Given the description of an element on the screen output the (x, y) to click on. 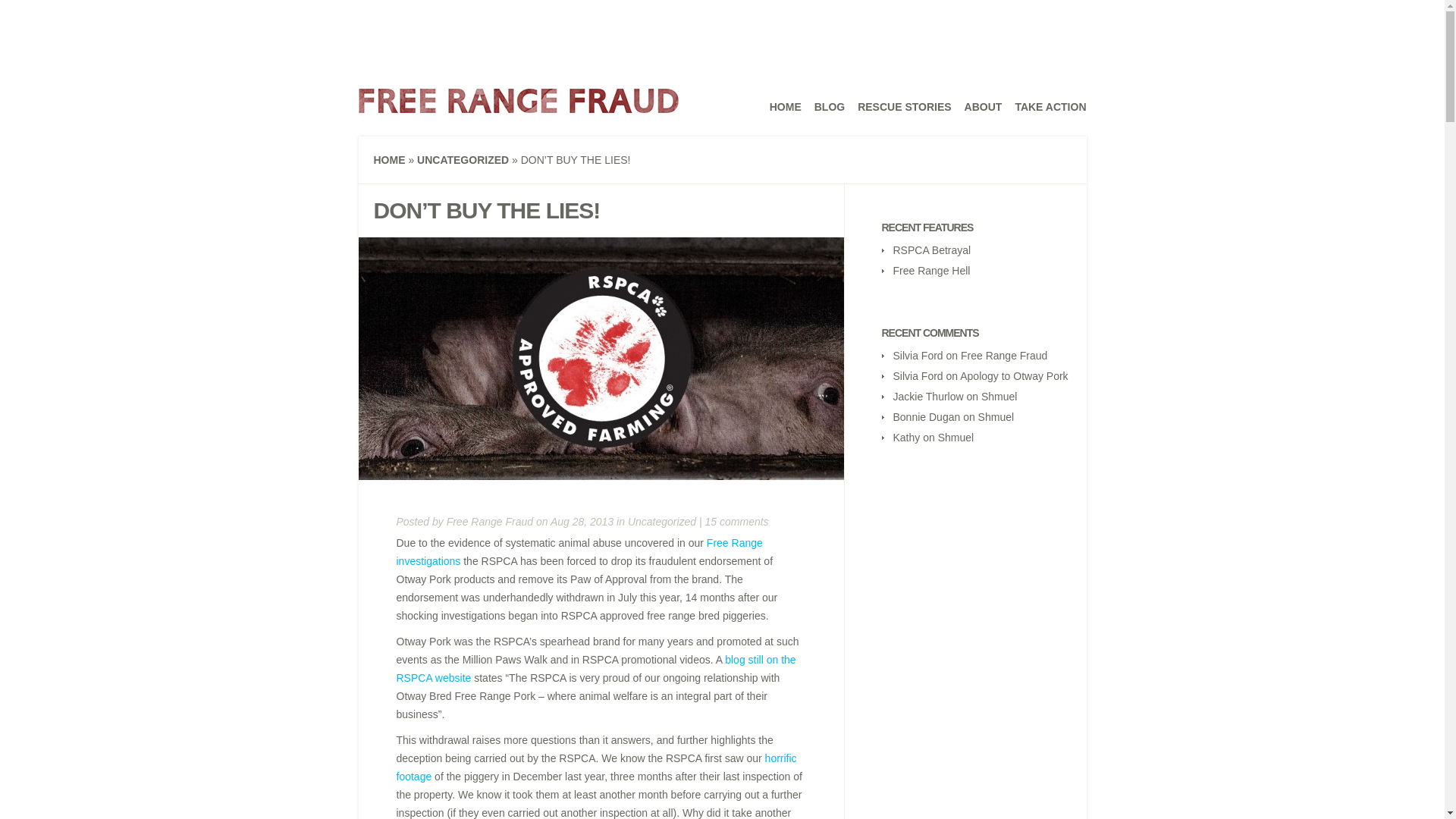
Free Range Hell (932, 270)
HOME (786, 106)
UNCATEGORIZED (462, 159)
RESCUE STORIES (903, 106)
HOME (388, 159)
blog still on the RSPCA website (595, 668)
Posts by Free Range Fraud (489, 521)
RSPCA Betrayal (932, 250)
Uncategorized (661, 521)
TAKE ACTION (1050, 106)
